Given the description of an element on the screen output the (x, y) to click on. 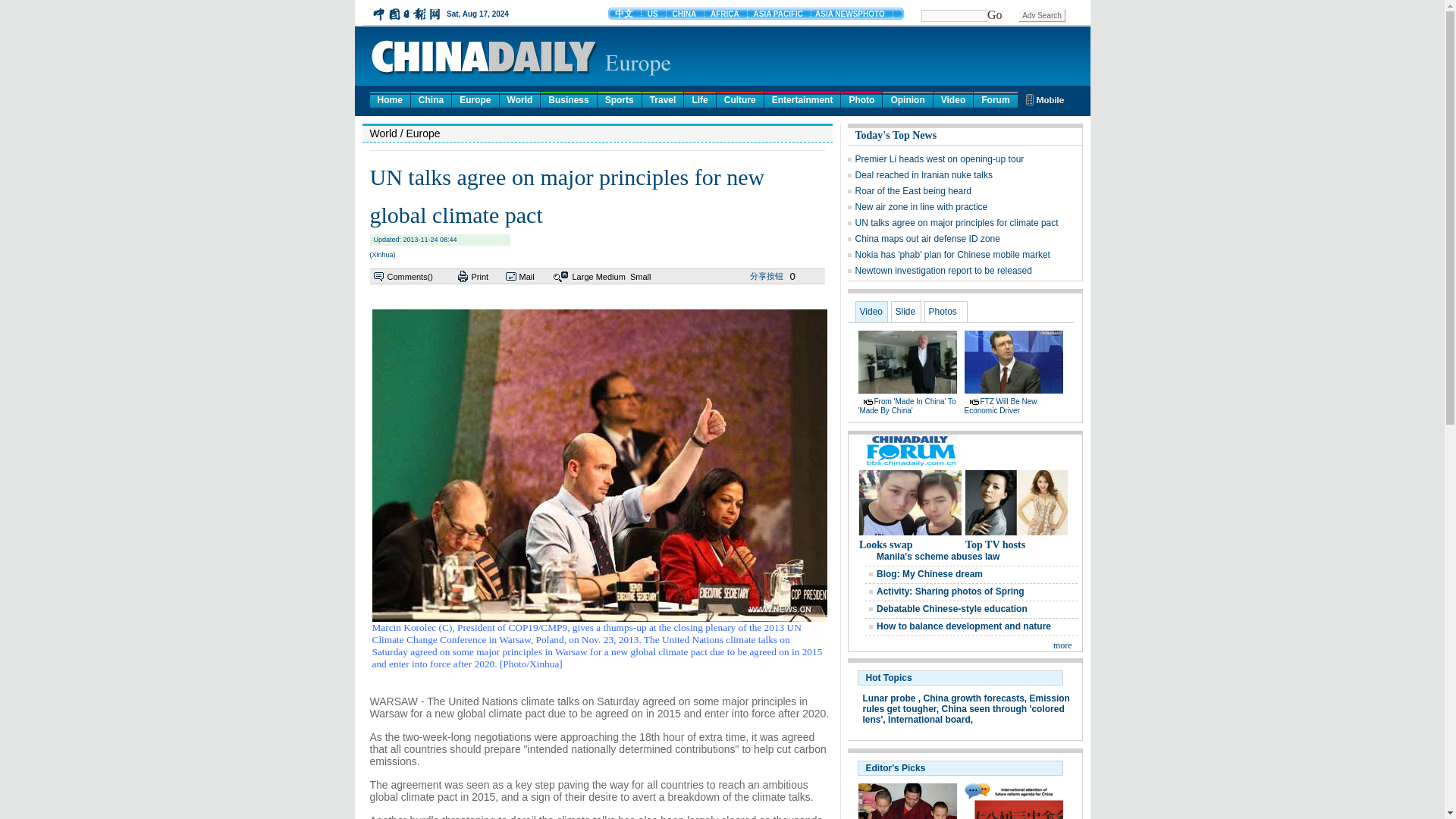
Travel (663, 99)
Sports (619, 99)
Home (389, 99)
World (519, 99)
Business (567, 99)
Life (699, 99)
China (430, 99)
Europe (474, 99)
